Given the description of an element on the screen output the (x, y) to click on. 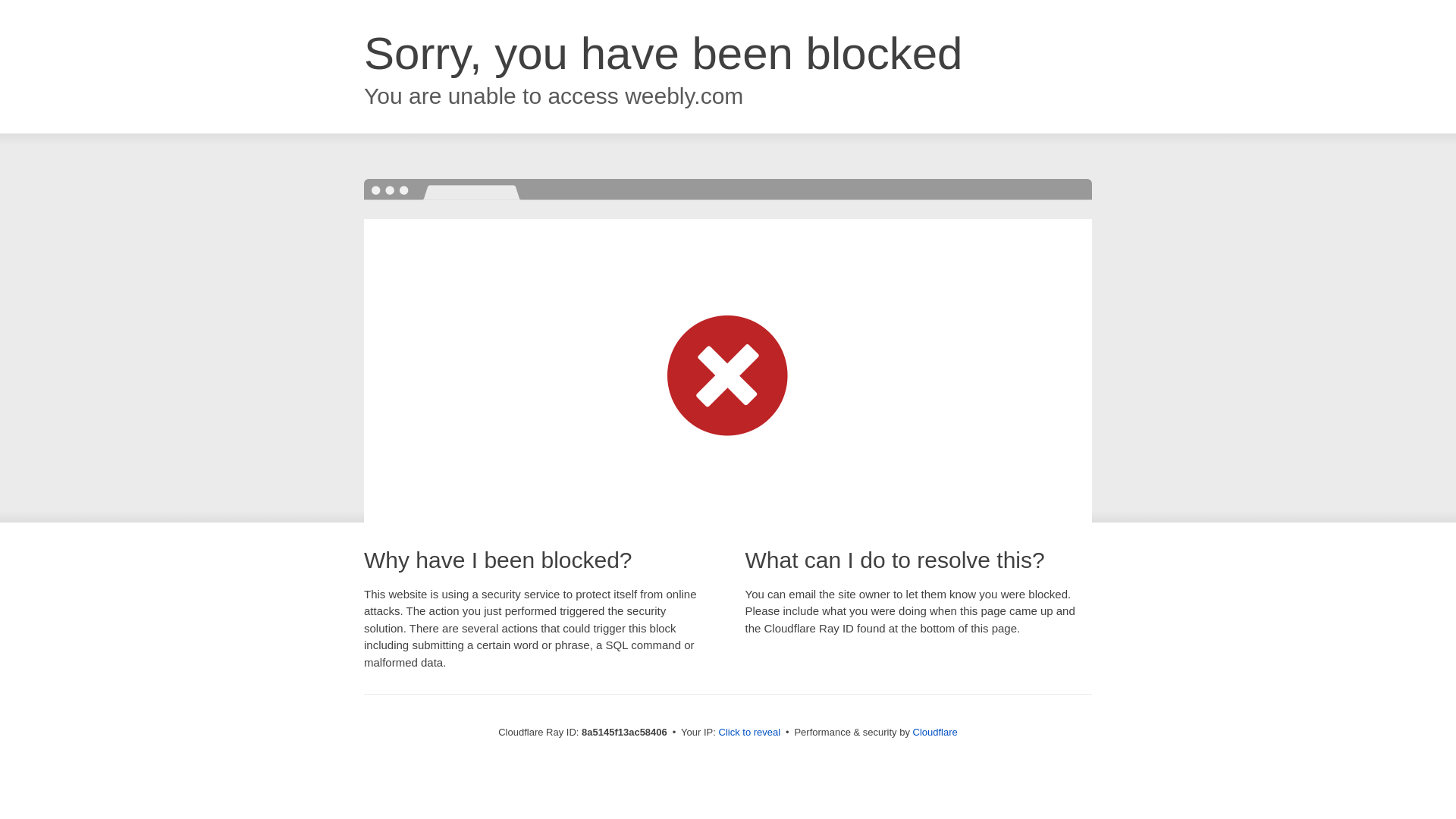
Cloudflare (935, 731)
Click to reveal (749, 732)
